Given the description of an element on the screen output the (x, y) to click on. 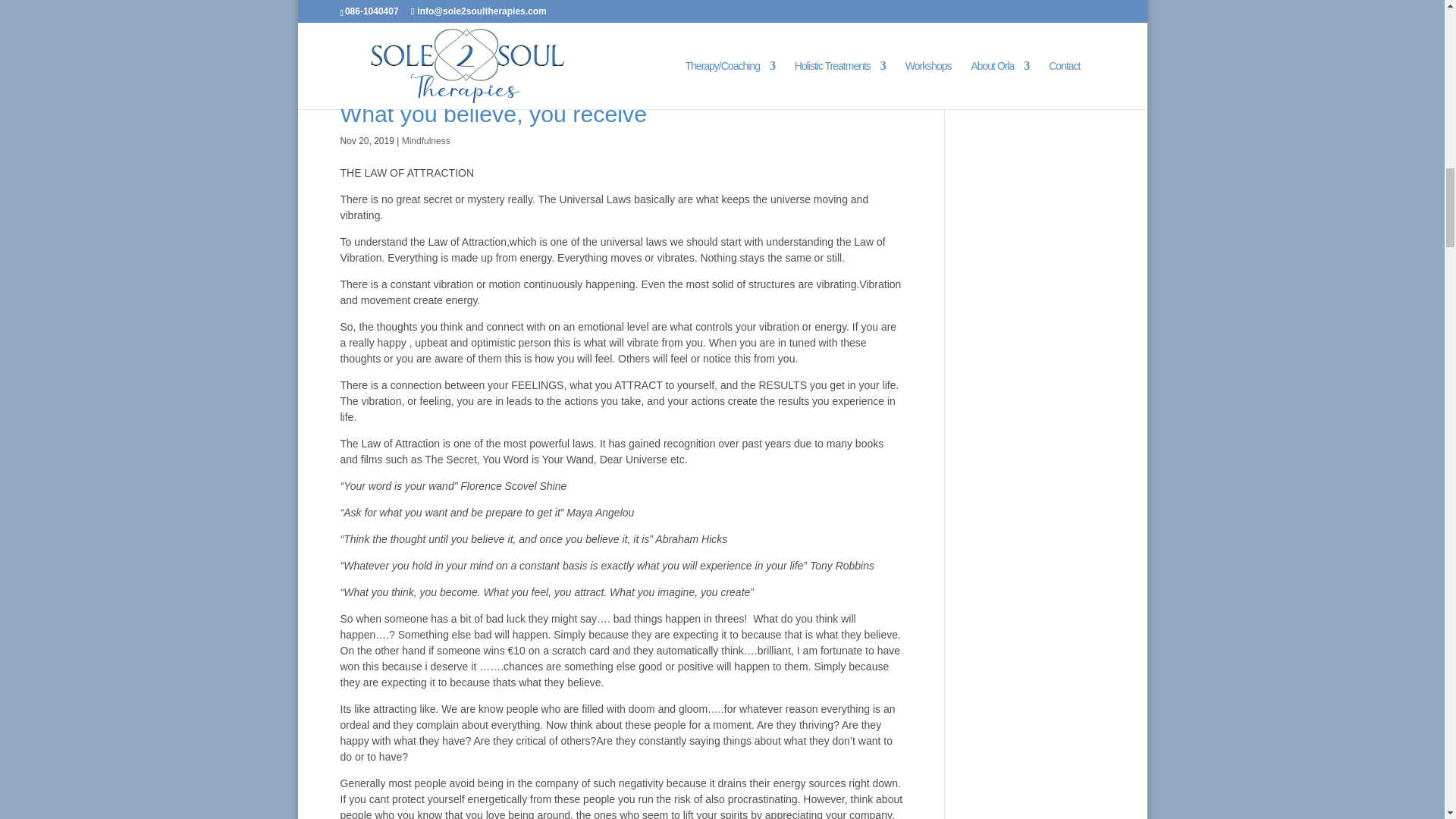
What you believe, you receive (492, 113)
Mindfulness (425, 140)
